Given the description of an element on the screen output the (x, y) to click on. 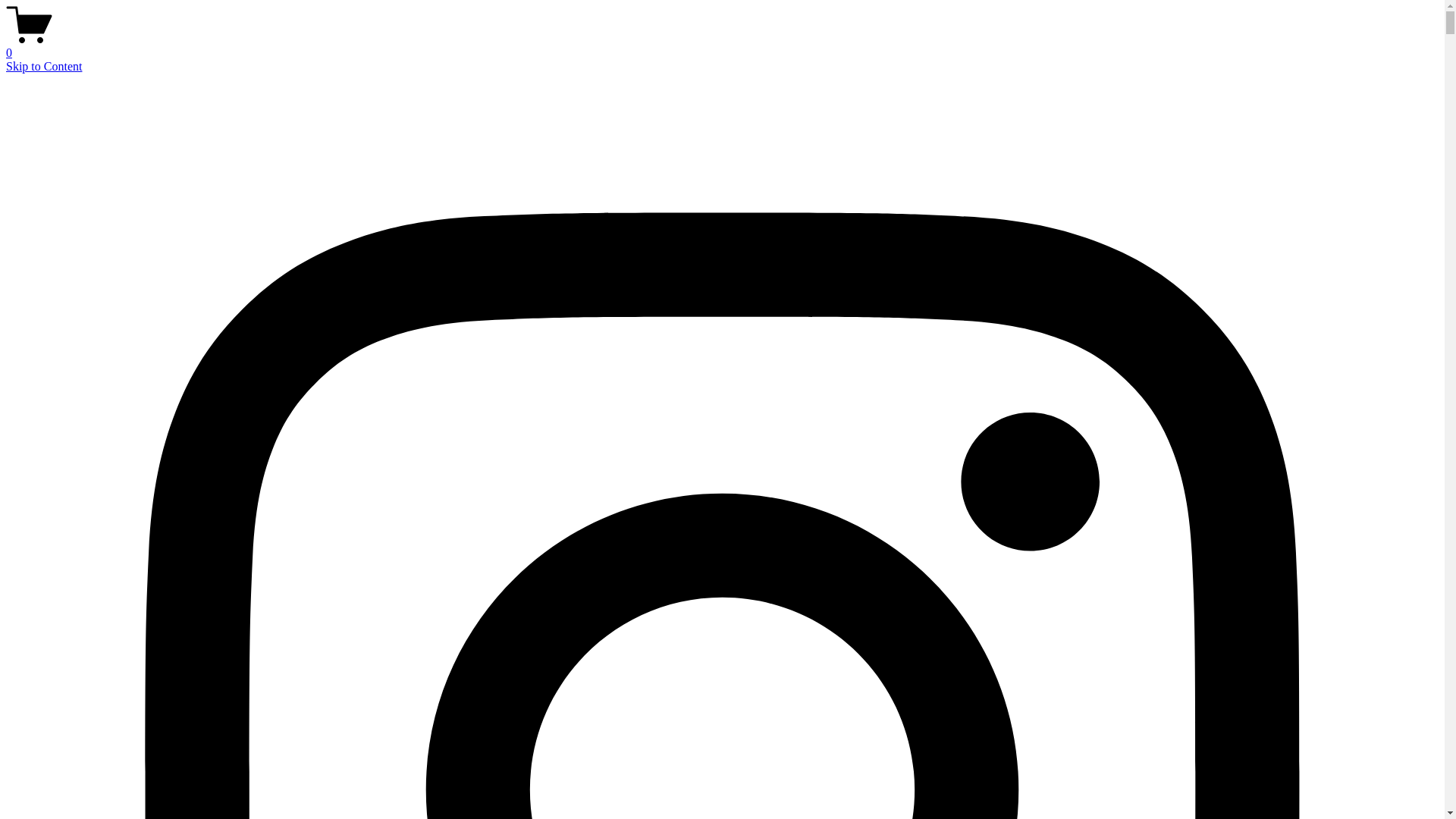
Skip to Content Element type: text (43, 65)
0 Element type: text (722, 45)
